Given the description of an element on the screen output the (x, y) to click on. 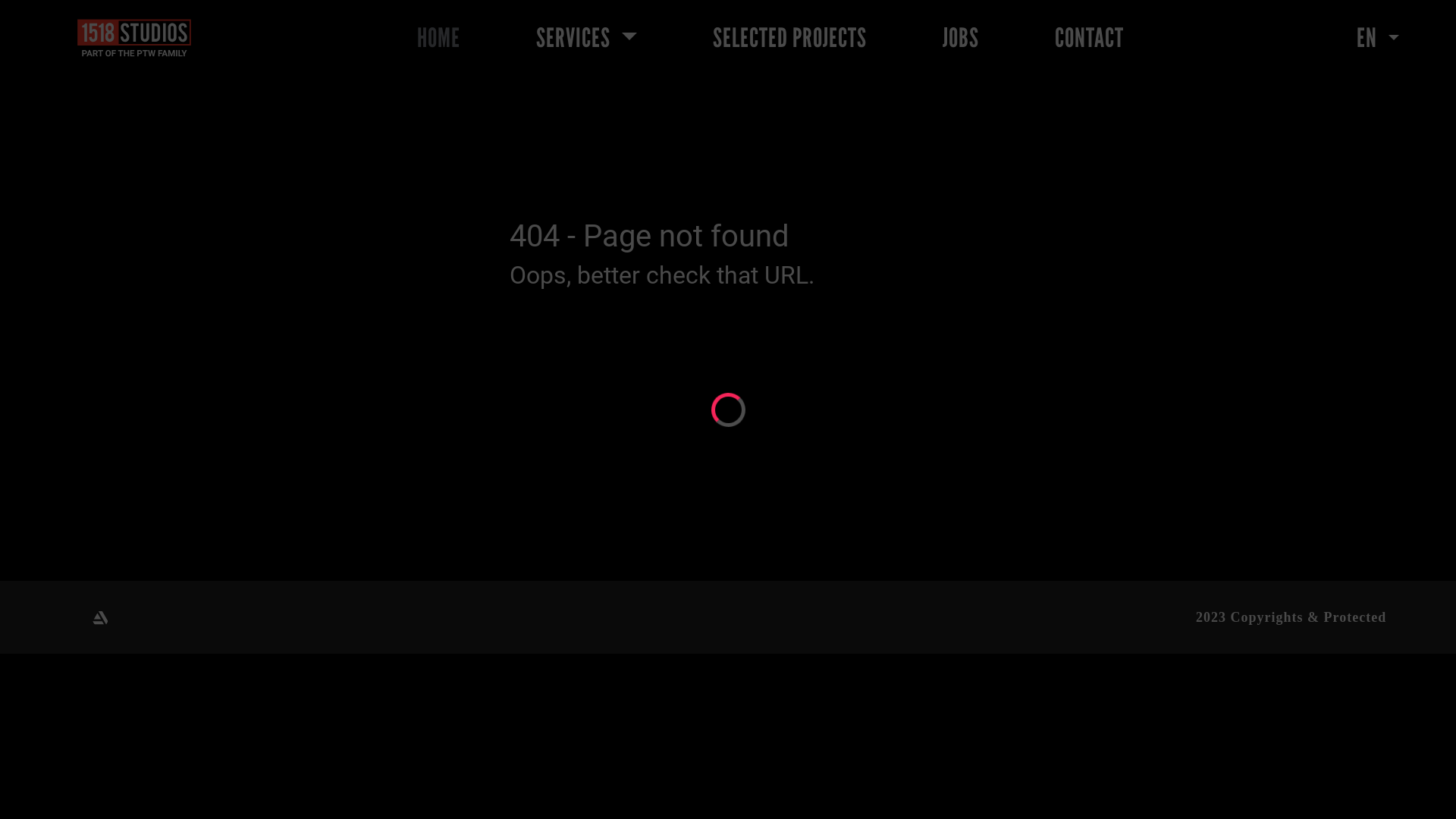
EN Element type: text (1377, 38)
HOME Element type: text (438, 38)
CONTACT Element type: text (1088, 38)
SELECTED PROJECTS Element type: text (789, 38)
JOBS Element type: text (960, 38)
SERVICES Element type: text (586, 38)
